Given the description of an element on the screen output the (x, y) to click on. 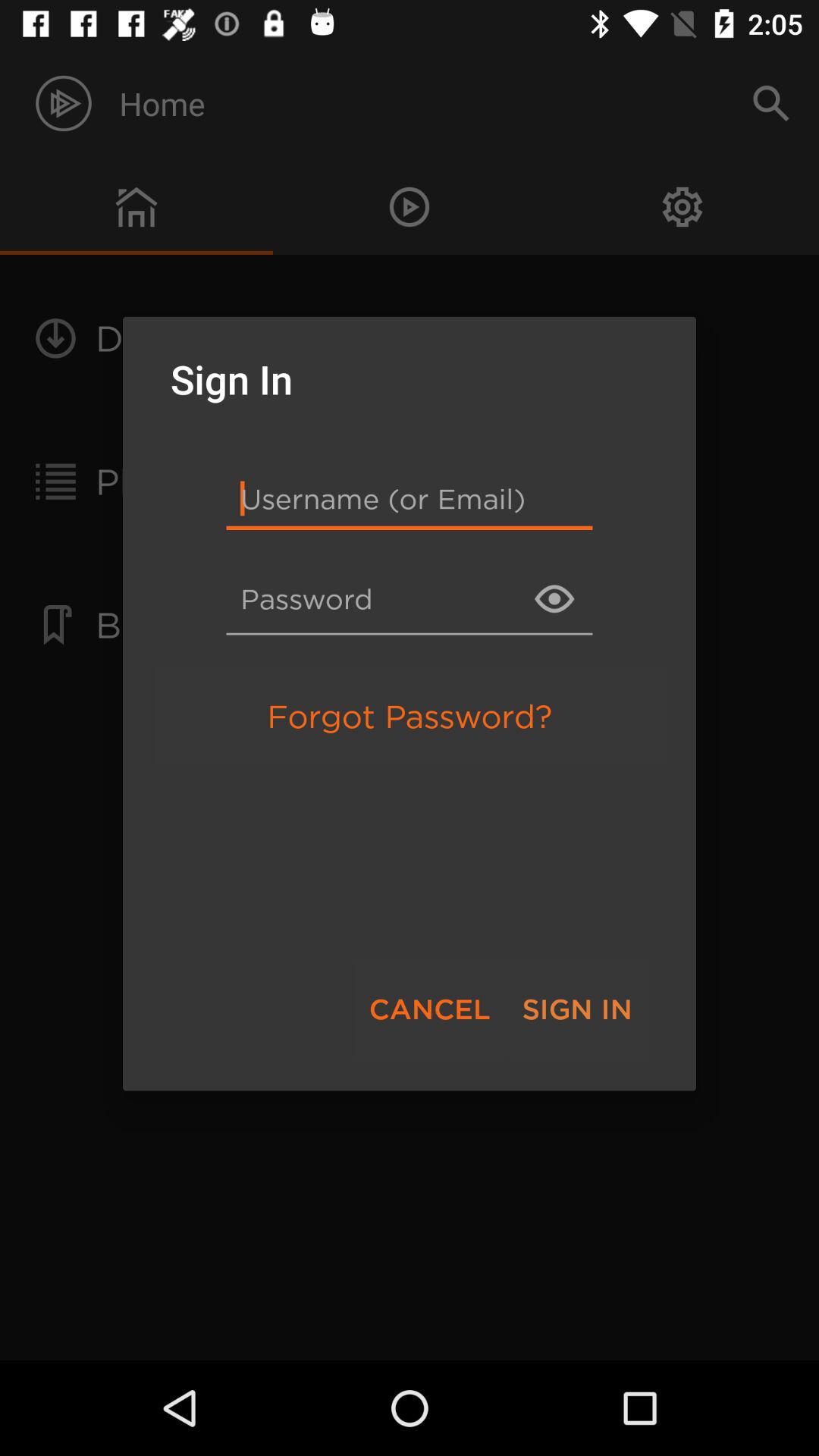
tap the item below the forgot password? item (429, 1009)
